Given the description of an element on the screen output the (x, y) to click on. 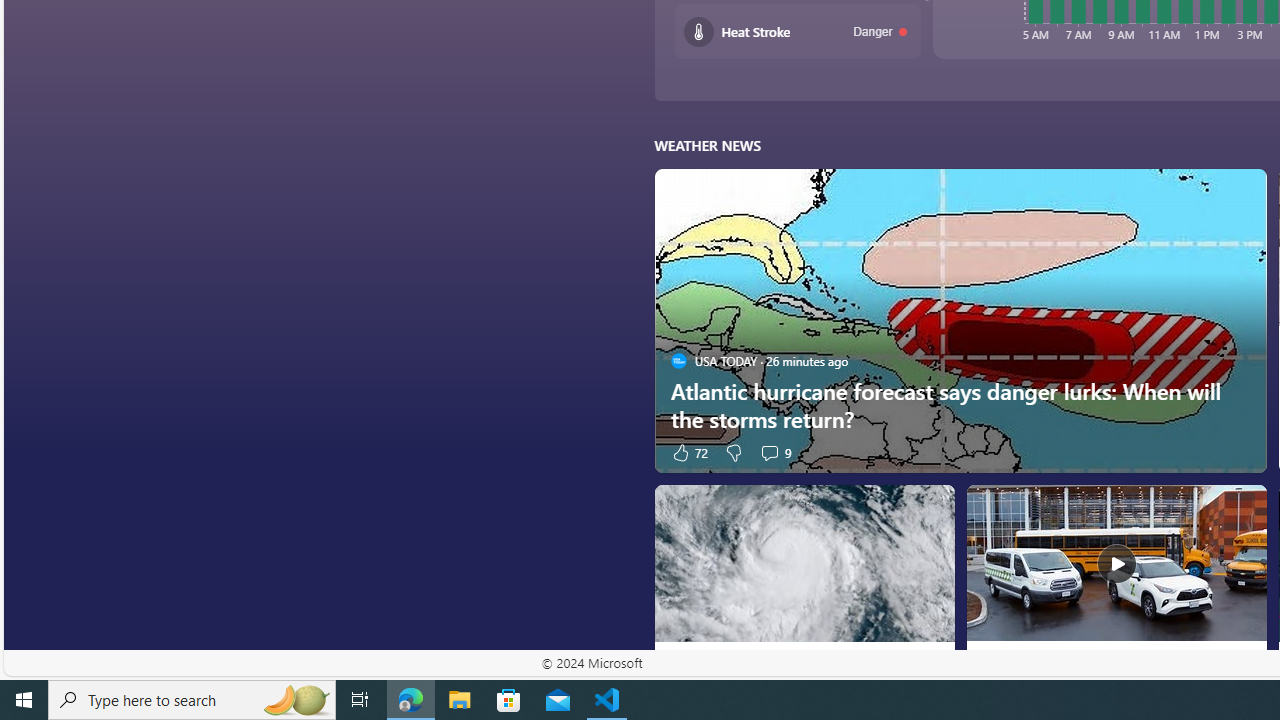
72 Like (688, 452)
View comments 9 Comment (774, 452)
View comments 9 Comment (769, 452)
AccuWeather (989, 661)
Heat stroke Danger (797, 31)
